Given the description of an element on the screen output the (x, y) to click on. 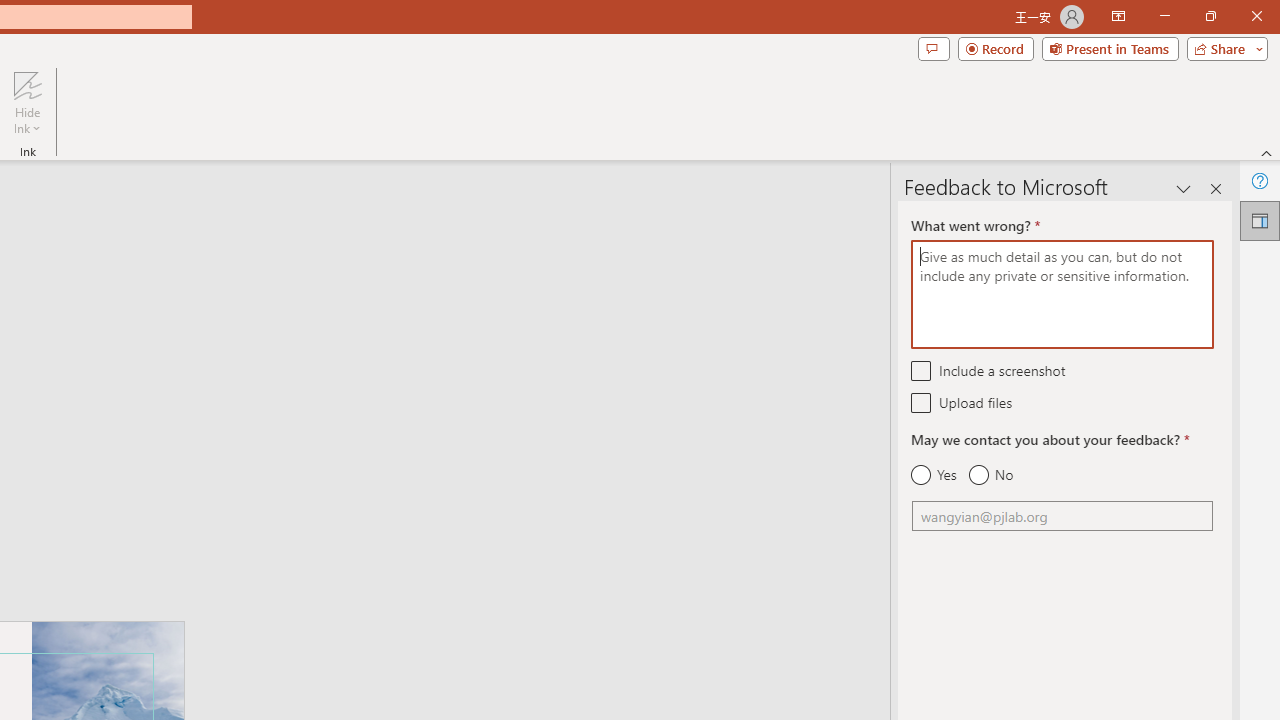
What went wrong? * (1062, 294)
Email (1062, 516)
Include a screenshot (921, 370)
Yes (934, 475)
Feedback to Microsoft (1260, 220)
